Given the description of an element on the screen output the (x, y) to click on. 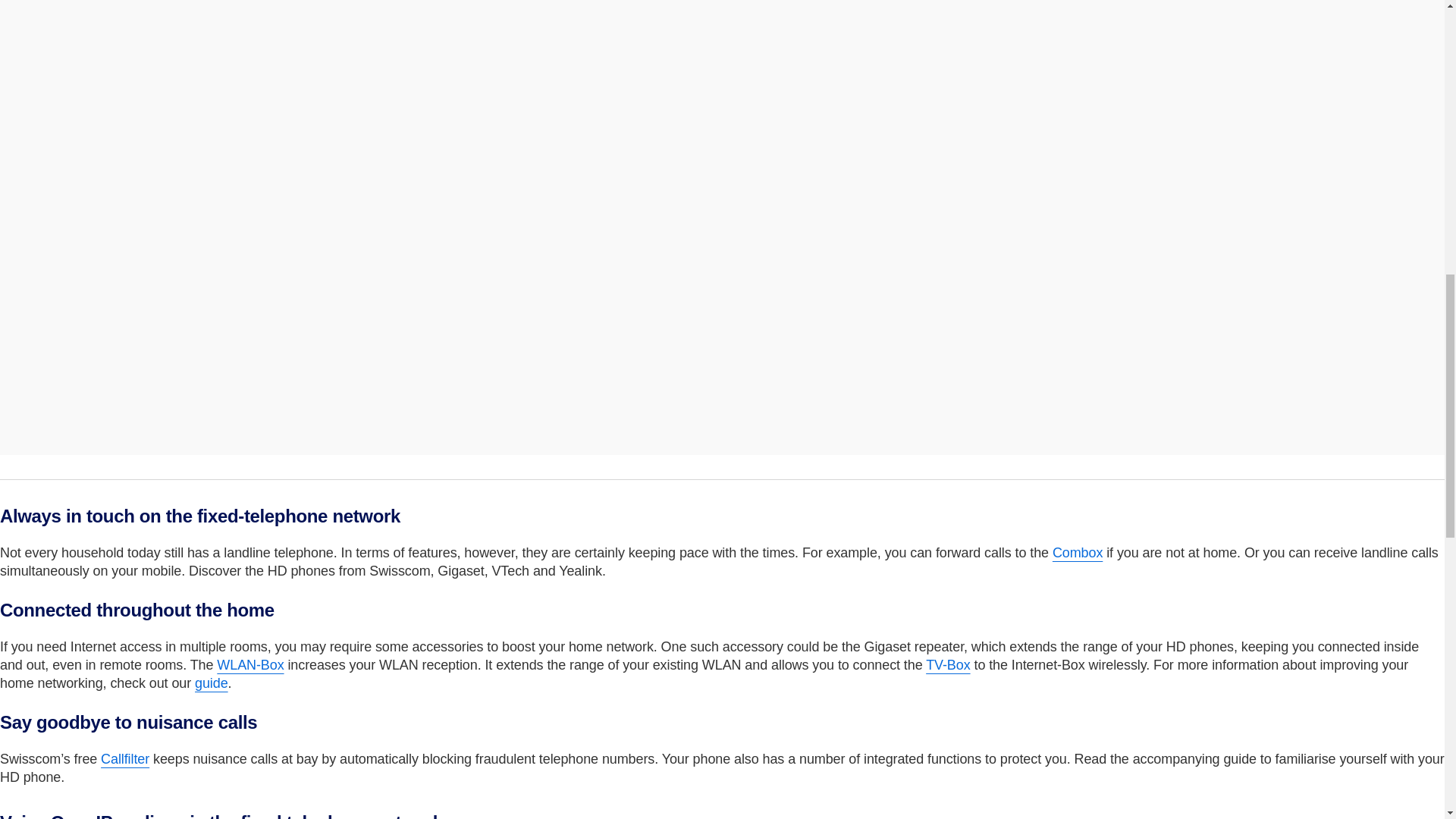
Combox (1077, 552)
Callfilter (124, 758)
TV-Box (947, 664)
WLAN-Box (249, 664)
guide (211, 683)
